Given the description of an element on the screen output the (x, y) to click on. 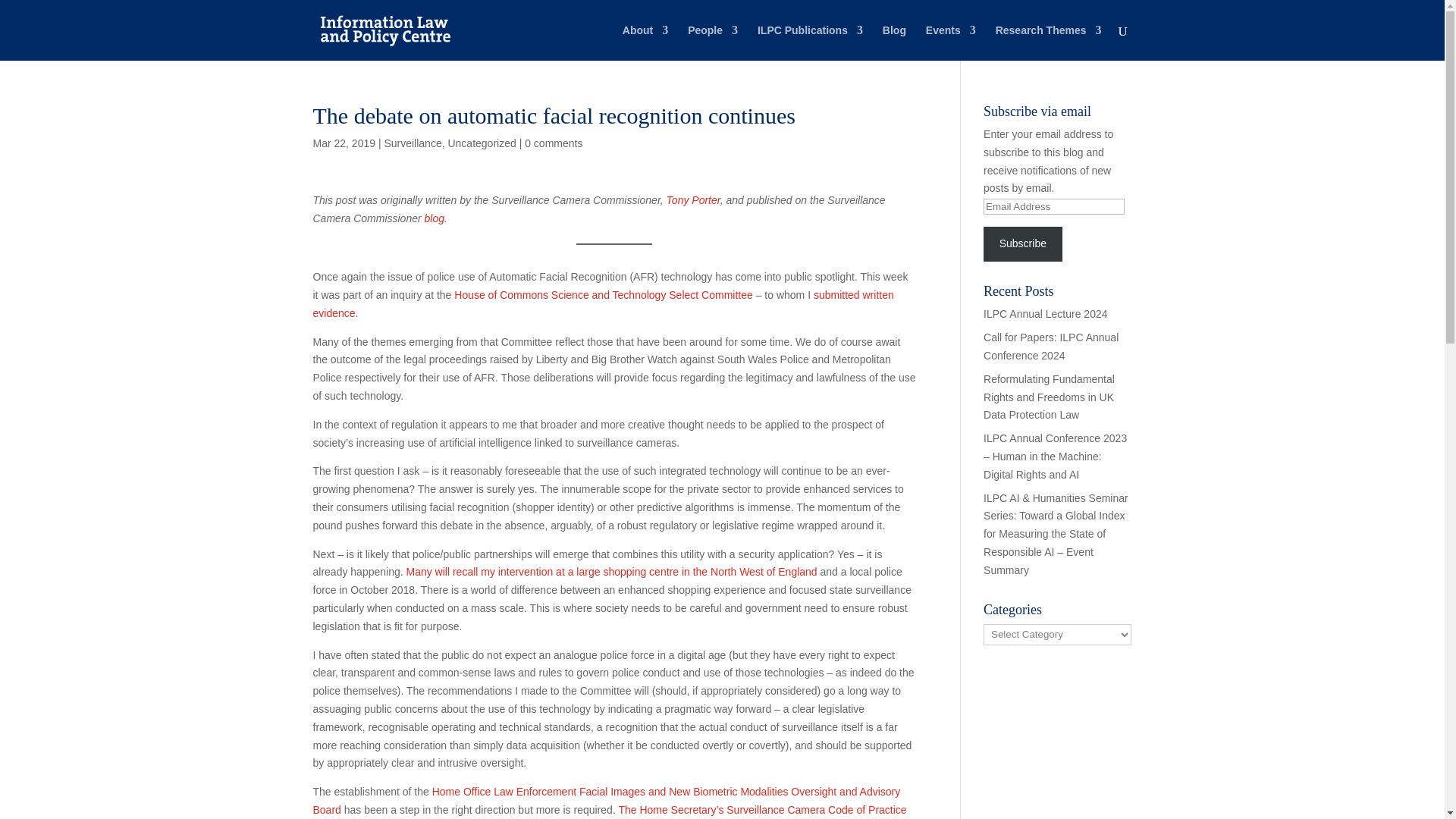
ILPC Publications (810, 42)
Research Themes (1048, 42)
About (645, 42)
Events (950, 42)
People (712, 42)
